Given the description of an element on the screen output the (x, y) to click on. 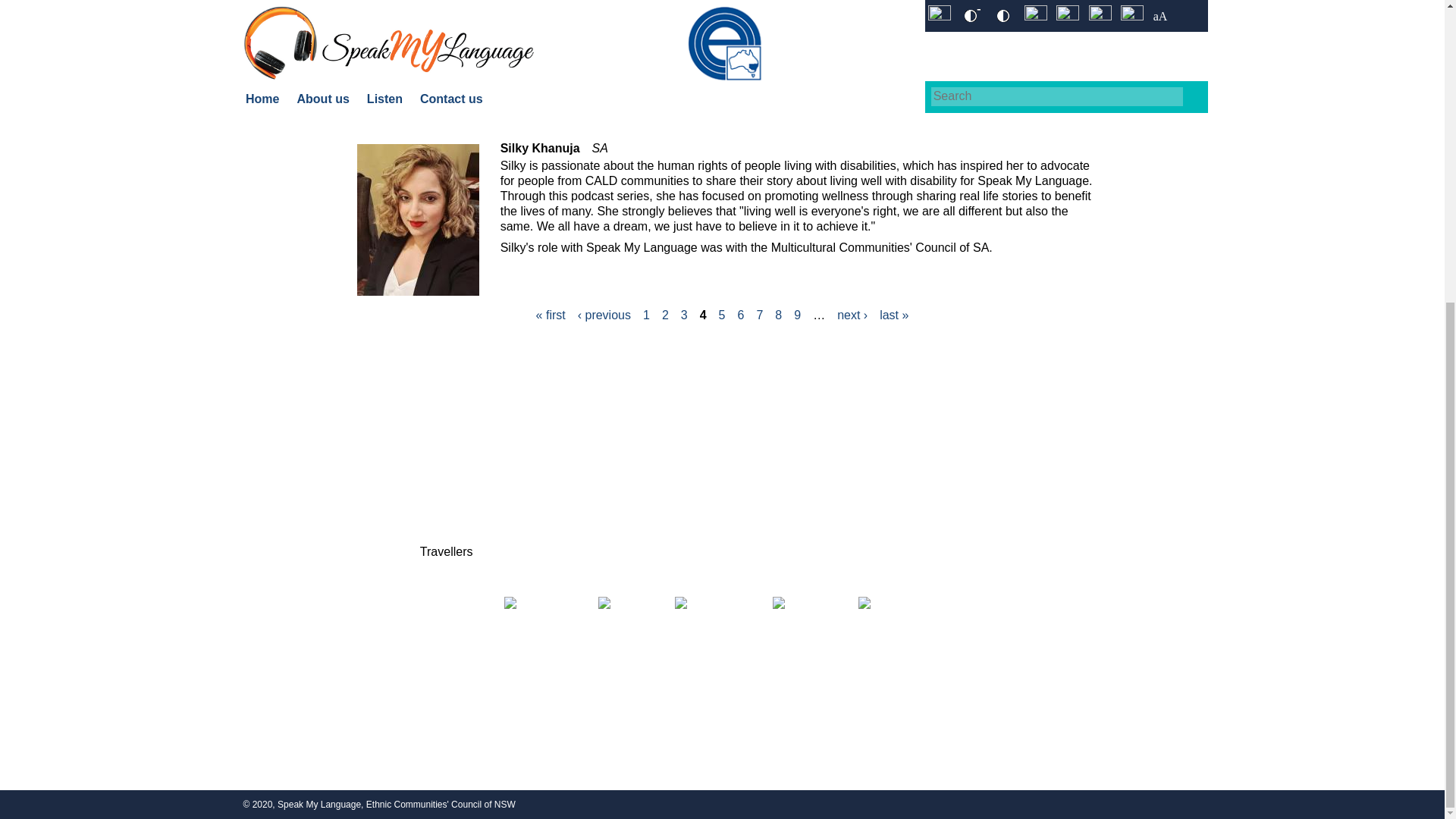
Blog (630, 468)
State Coordinators (445, 523)
News (630, 441)
Travellers (446, 550)
Media inquiries (630, 414)
Contact us (446, 468)
Partners (446, 441)
Go to previous page (604, 314)
National team (445, 496)
Go to first page (550, 314)
